Given the description of an element on the screen output the (x, y) to click on. 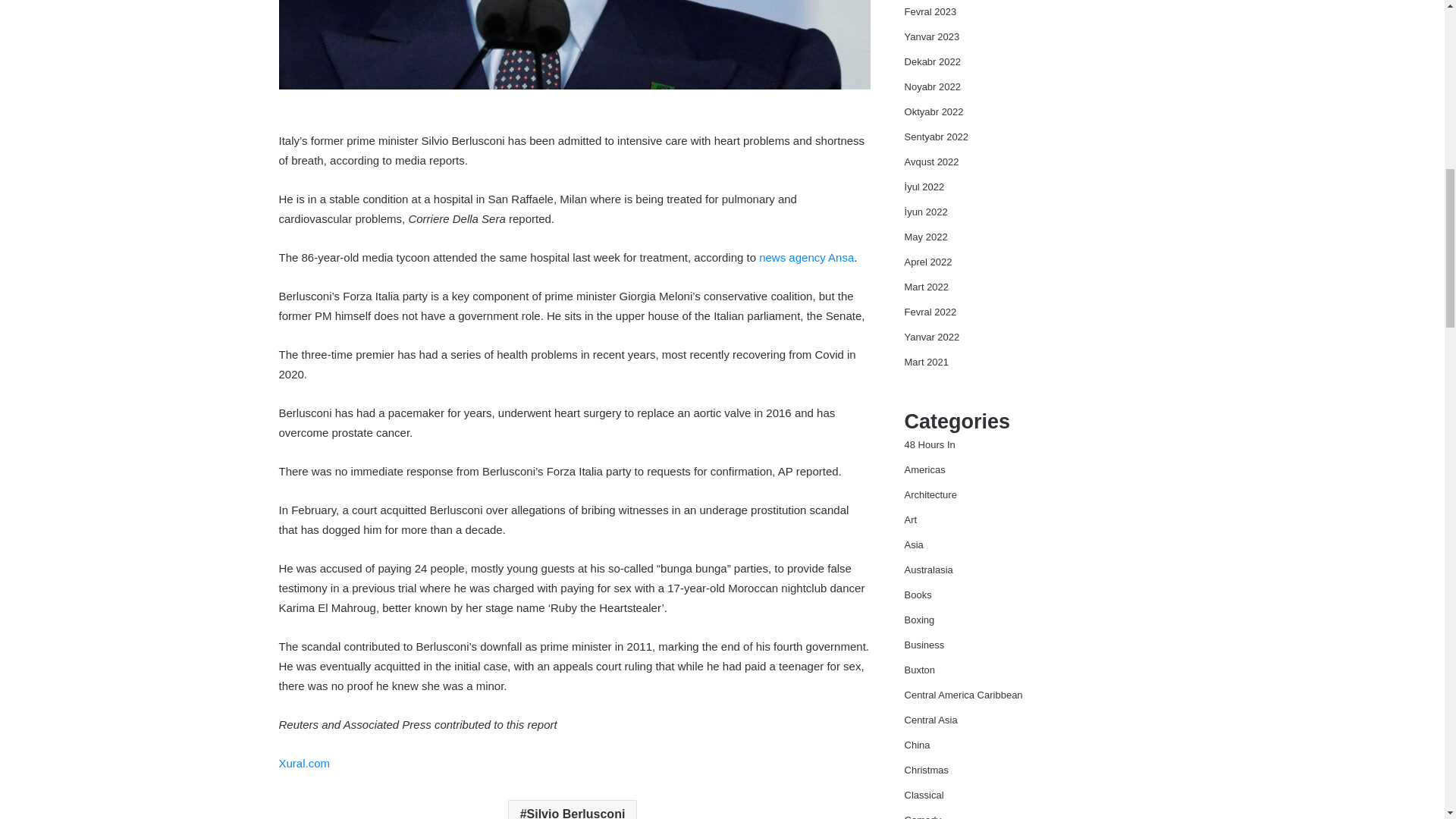
Silvio Berlusconi (572, 809)
news agency Ansa (805, 256)
Xural.com (304, 762)
